Given the description of an element on the screen output the (x, y) to click on. 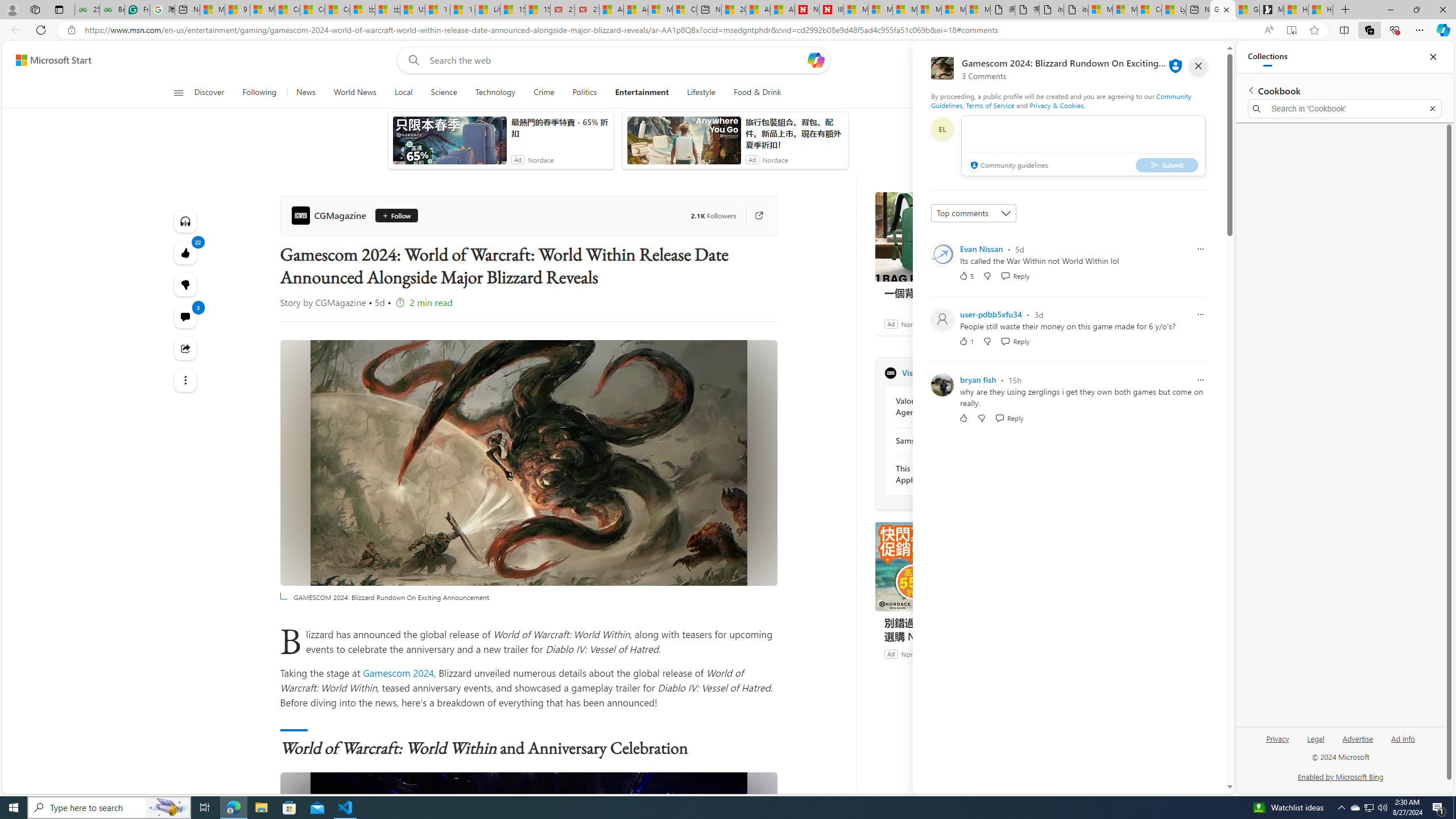
Search in 'Cookbook' (1345, 108)
Submit (1166, 164)
Microsoft rewards (1154, 60)
Skip to content (49, 59)
Exit search (1432, 108)
Open navigation menu (177, 92)
World News (354, 92)
CGMagazine (889, 372)
